Given the description of an element on the screen output the (x, y) to click on. 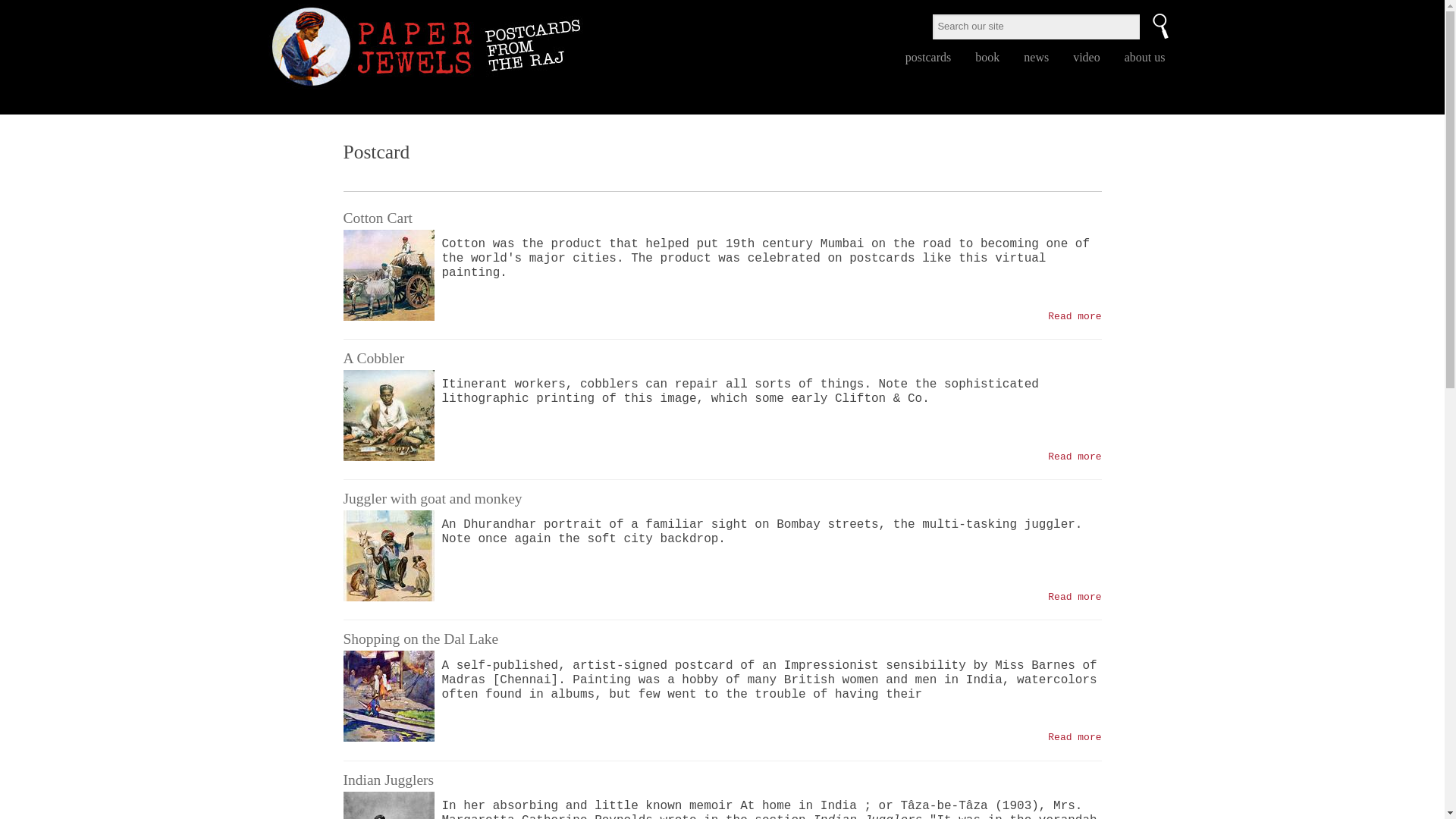
about us (1144, 57)
A Cobbler (1074, 456)
Shopping on the Dal Lake (387, 696)
book (986, 57)
Juggler with goat and monkey (387, 555)
Indian Jugglers (387, 779)
Cotton Cart (1074, 456)
